Given the description of an element on the screen output the (x, y) to click on. 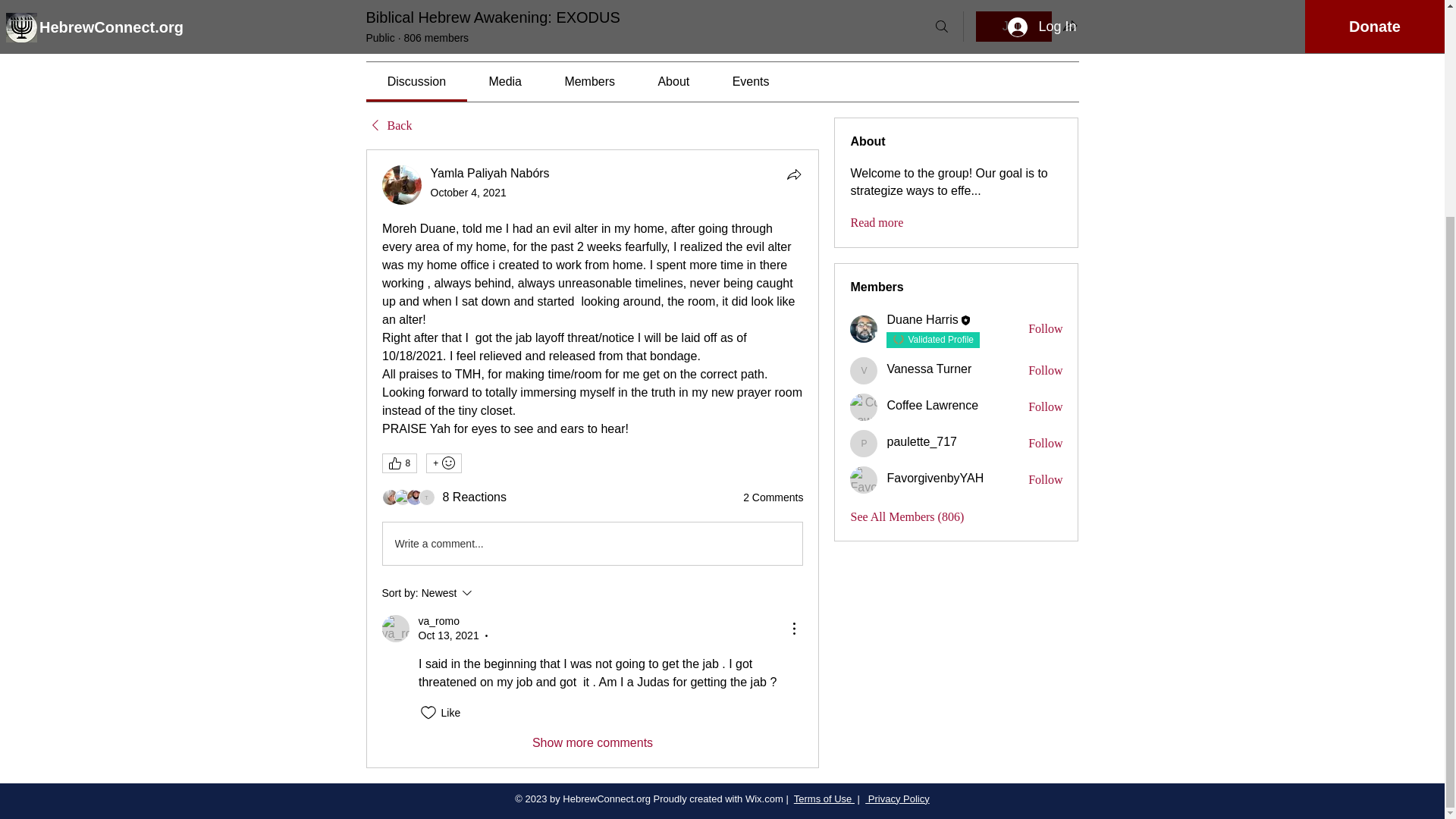
Cheryl Slaughter (402, 497)
Terra.Thompson (427, 497)
Duane Harris (863, 329)
linda  (389, 497)
Bobby Hollow (414, 497)
Coffee Lawrence (863, 406)
FavorgivenbyYAH (863, 479)
Vanessa  Turner  (863, 370)
Join (1013, 26)
